Given the description of an element on the screen output the (x, y) to click on. 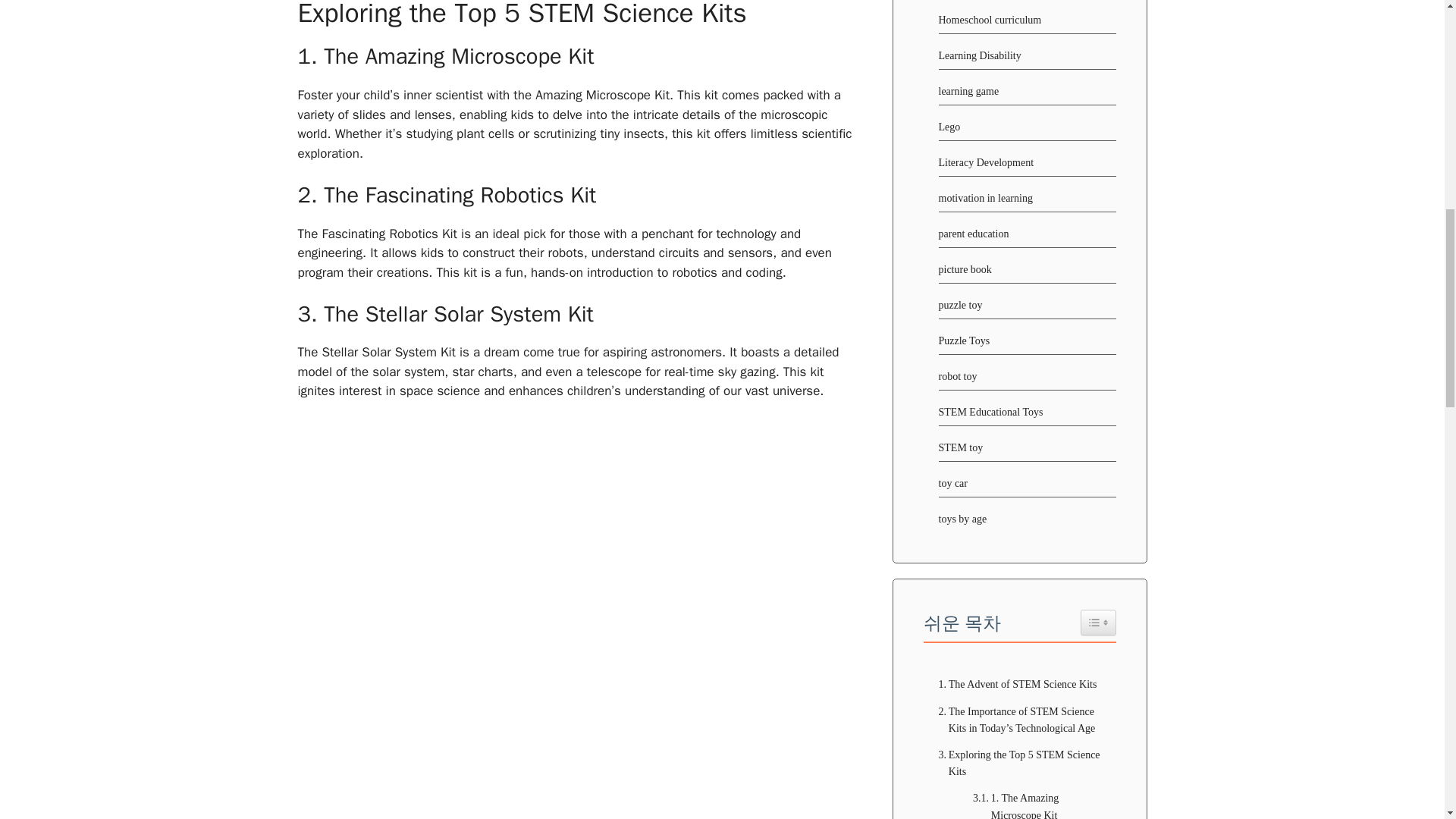
The Advent of STEM Science Kits (1014, 684)
Exploring the Top 5 STEM Science Kits (1019, 763)
